Given the description of an element on the screen output the (x, y) to click on. 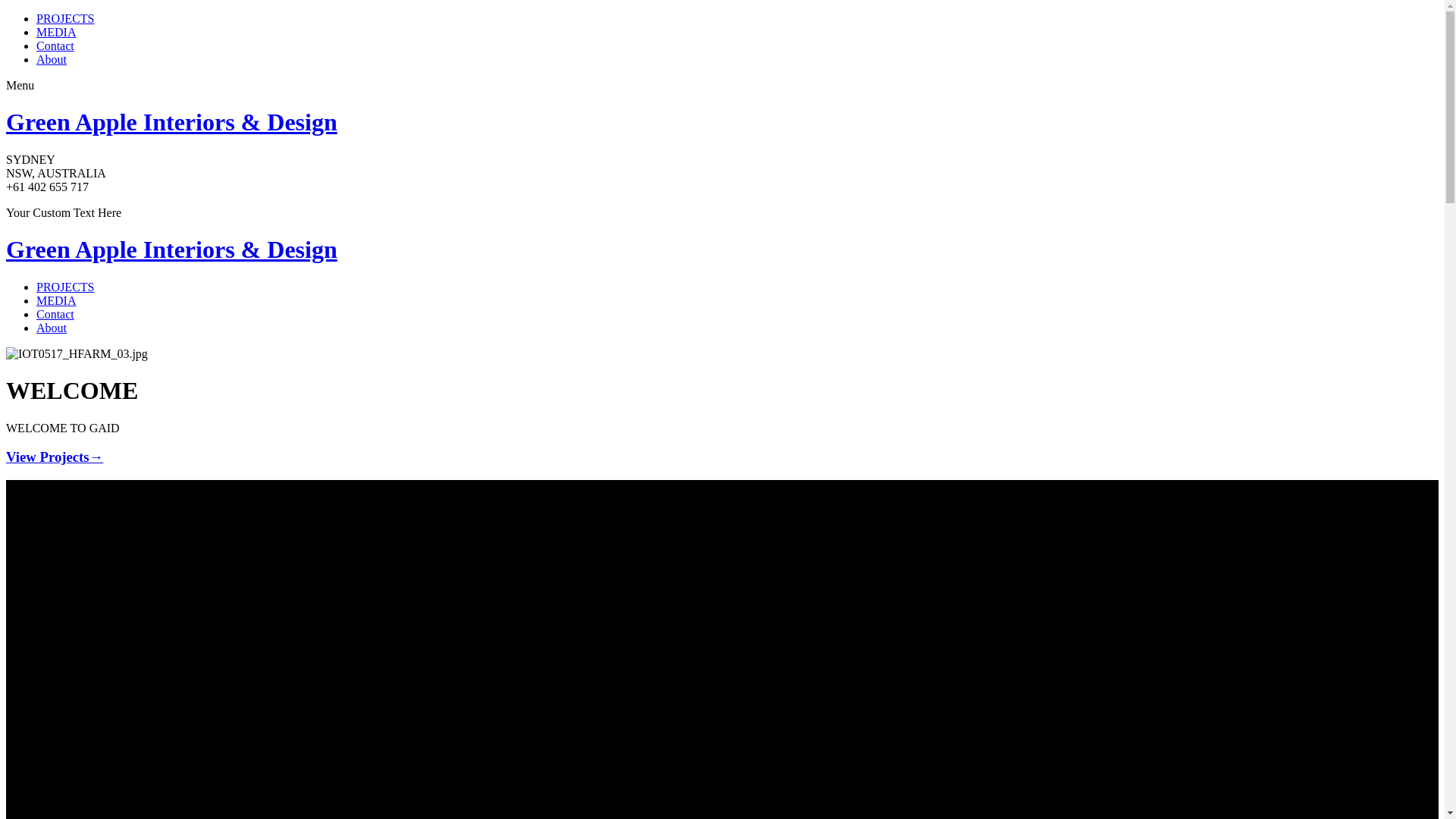
Green Apple Interiors & Design Element type: text (171, 249)
Contact Element type: text (55, 45)
PROJECTS Element type: text (65, 18)
MEDIA Element type: text (55, 300)
About Element type: text (51, 59)
Menu Element type: text (20, 84)
PROJECTS Element type: text (65, 286)
About Element type: text (51, 327)
Contact Element type: text (55, 313)
Green Apple Interiors & Design Element type: text (171, 121)
MEDIA Element type: text (55, 31)
